Given the description of an element on the screen output the (x, y) to click on. 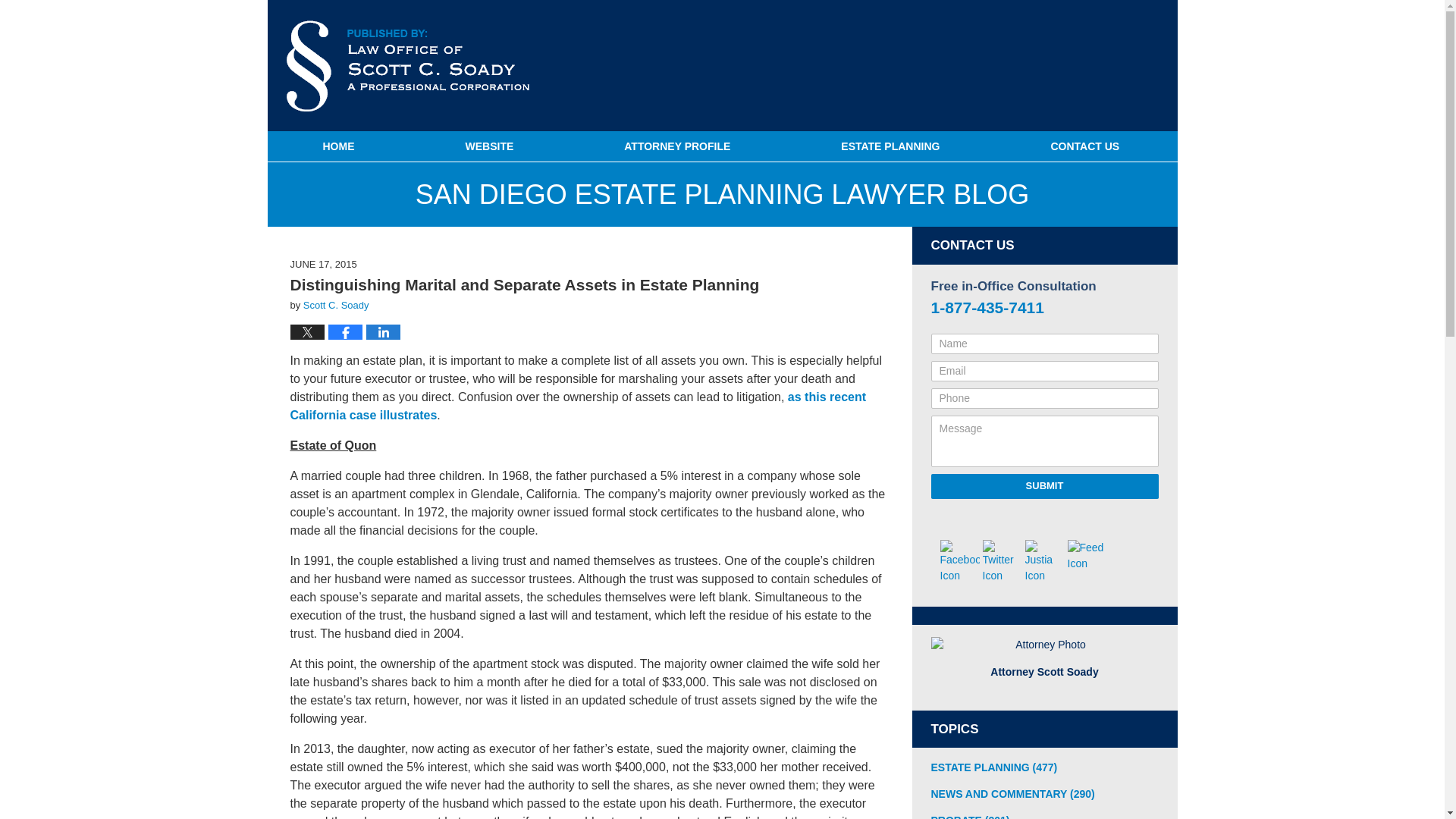
SUBMIT (1044, 485)
Justia (1044, 561)
CONTACT US (1084, 146)
HOME (337, 146)
Feed (1086, 555)
as this recent California case illustrates (577, 405)
Scott C. Soady (335, 305)
Facebook (960, 561)
Published By Law Offices of Scott C. Soady, APC (1084, 67)
Please enter a valid phone number. (1044, 398)
